Given the description of an element on the screen output the (x, y) to click on. 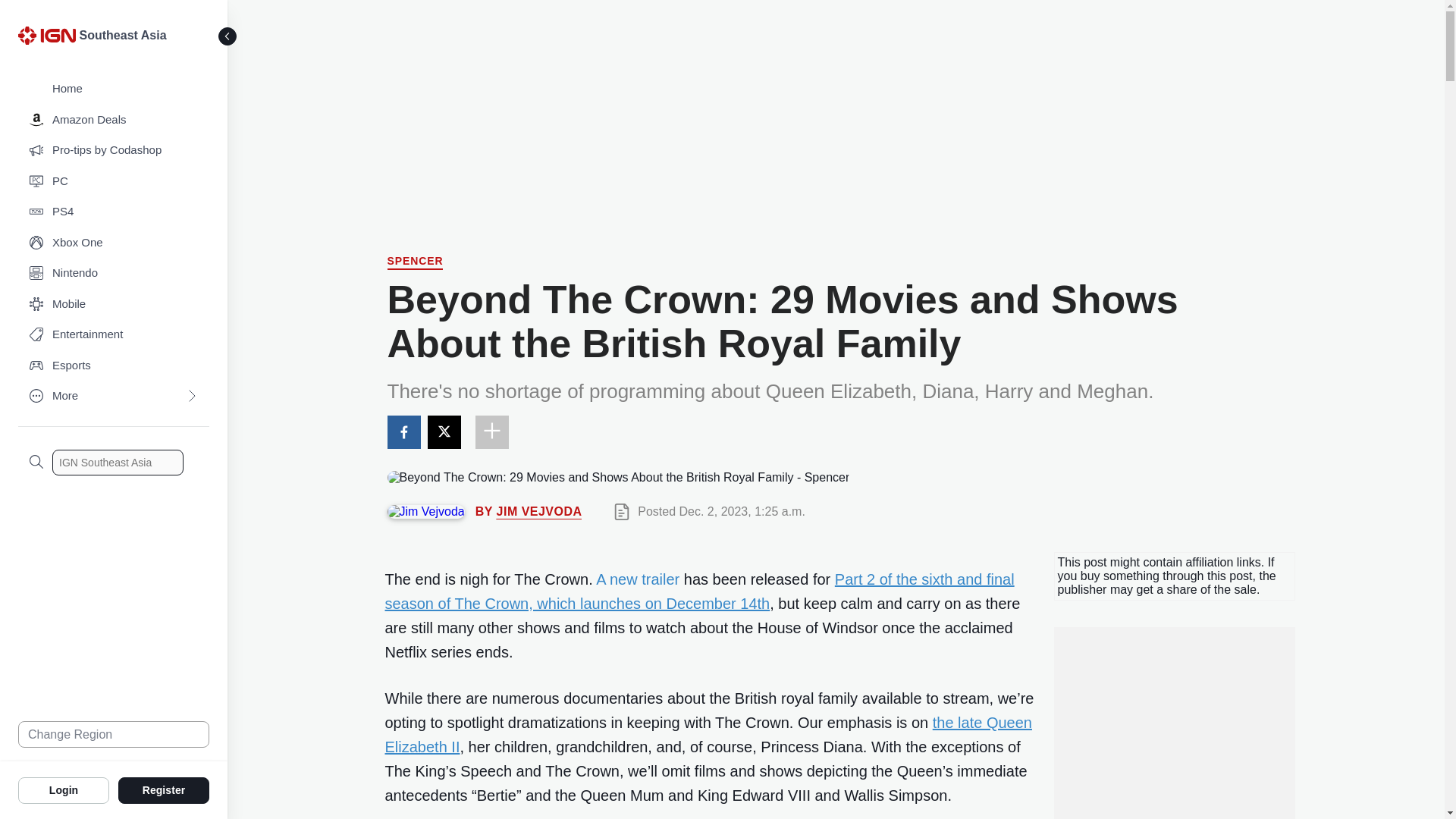
PS4 (113, 211)
More (113, 396)
IGN Logo (46, 34)
PC (113, 181)
Register (163, 789)
Toggle Sidebar (226, 36)
IGN Logo (48, 39)
Spencer (414, 262)
SPENCER (414, 262)
Pro-tips by Codashop (113, 150)
Amazon Deals (113, 119)
Login (63, 789)
Mobile (113, 304)
Entertainment (113, 334)
Esports (113, 365)
